Given the description of an element on the screen output the (x, y) to click on. 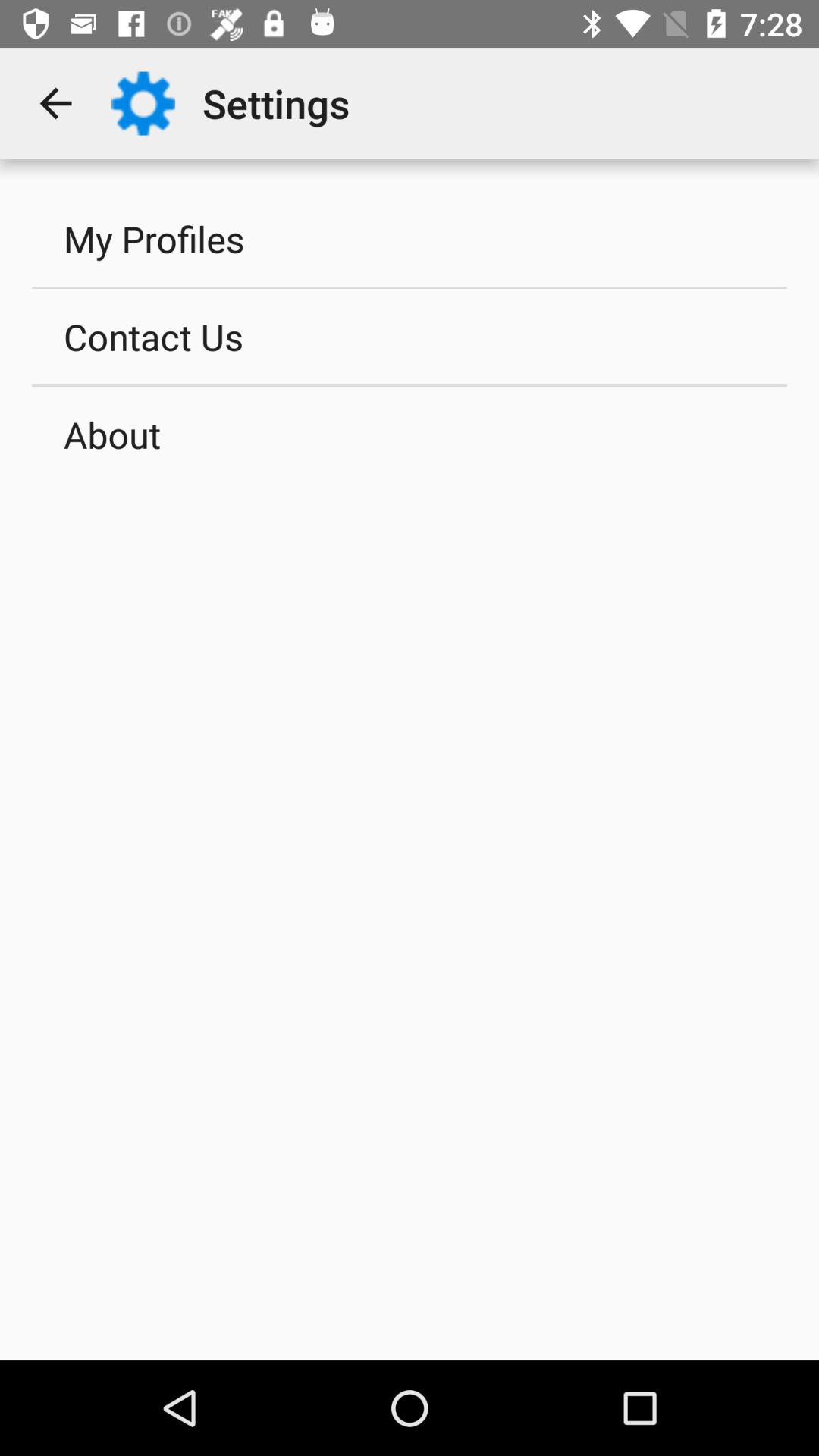
open item below the my profiles item (409, 336)
